Given the description of an element on the screen output the (x, y) to click on. 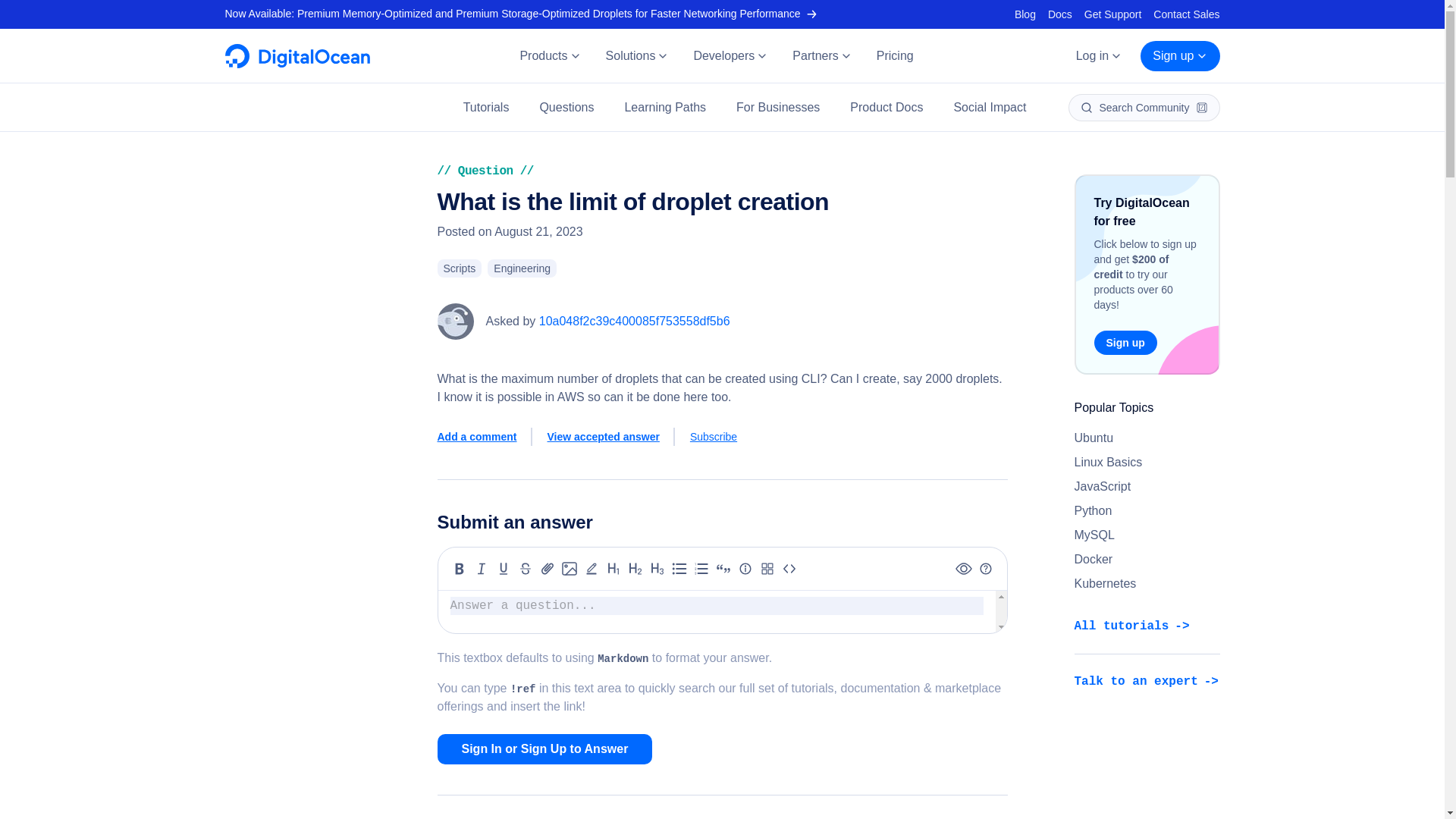
Blog (1024, 14)
Unordered list (678, 568)
Callout (744, 568)
Image (568, 568)
Italic (480, 568)
Strikethrough (524, 568)
View accepted answer (611, 436)
Highlight (590, 568)
Quote (723, 568)
Contact Sales (1186, 14)
Heading 2 (635, 568)
Link (547, 568)
Underline (503, 568)
Products (549, 55)
